Given the description of an element on the screen output the (x, y) to click on. 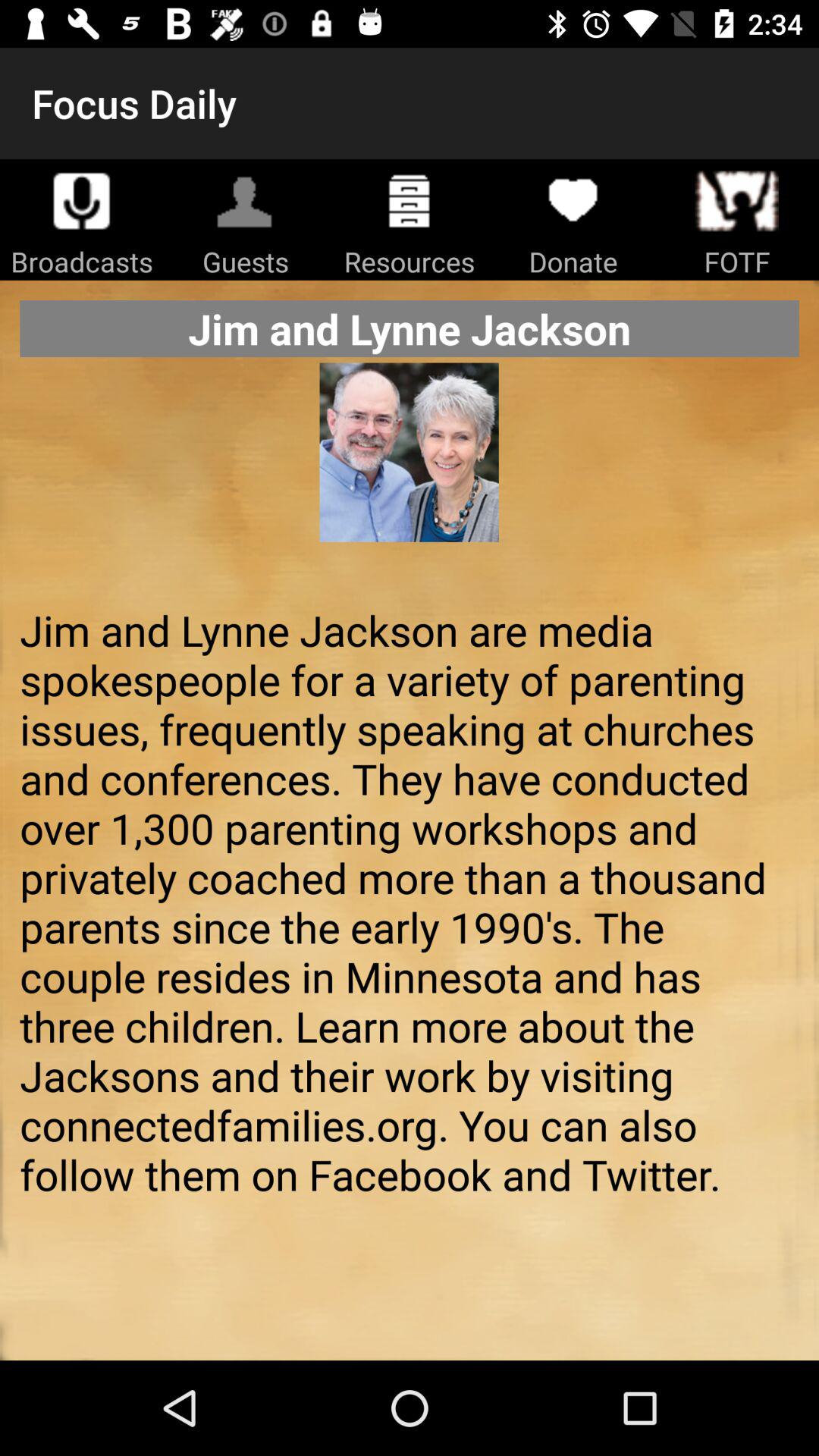
press item above jim and lynne app (408, 476)
